Given the description of an element on the screen output the (x, y) to click on. 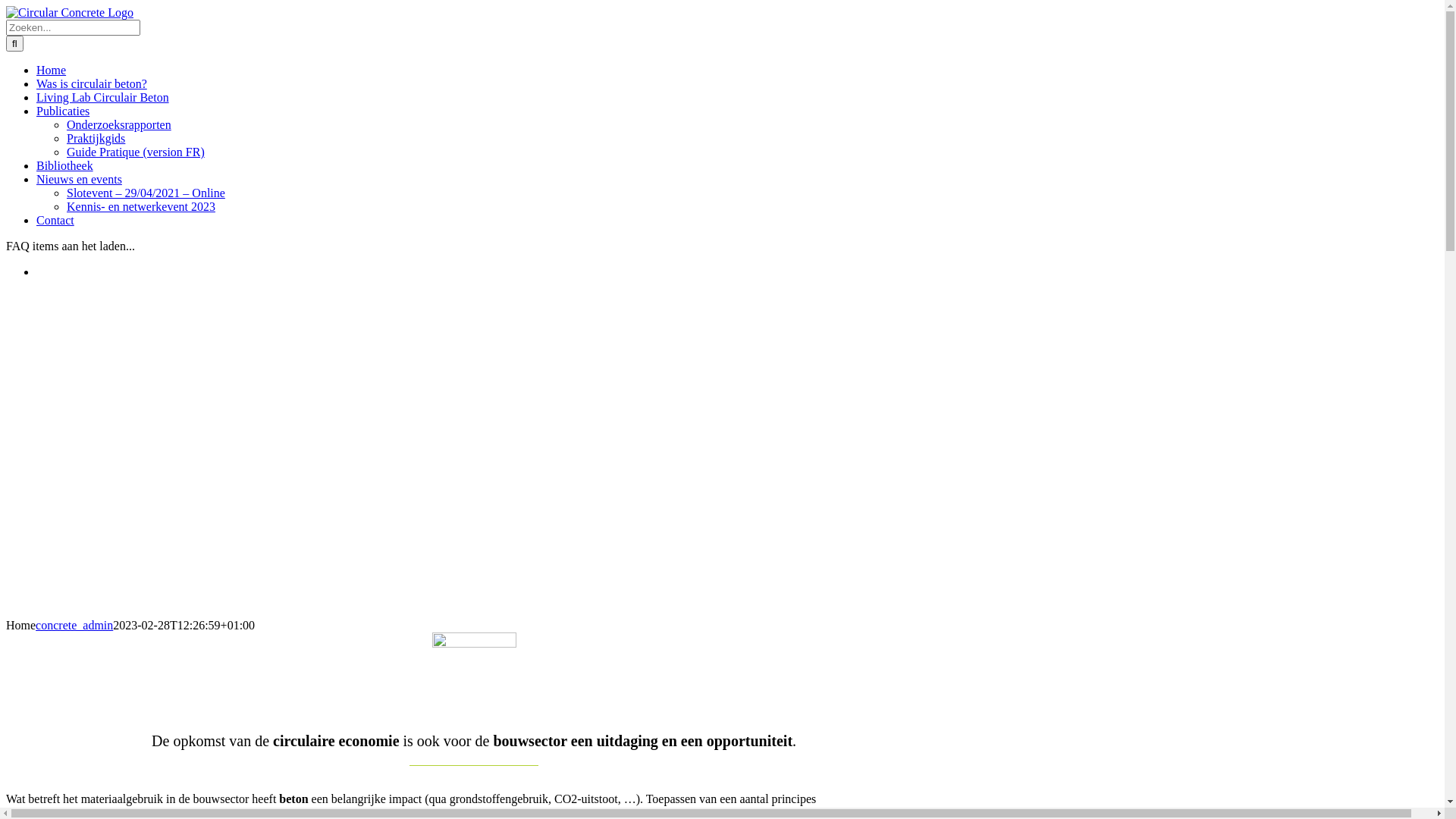
Was is circulair beton? Element type: text (91, 83)
Onderzoeksrapporten Element type: text (118, 124)
Living Lab Circulair Beton Element type: text (102, 97)
Bibliotheek Element type: text (64, 165)
Contact Element type: text (55, 219)
Publicaties Element type: text (62, 110)
Home Element type: text (50, 69)
Ga naar inhoud Element type: text (5, 5)
Guide Pratique (version FR) Element type: text (135, 151)
concrete_admin Element type: text (73, 624)
Kennis- en netwerkevent 2023 Element type: text (140, 206)
Nieuws en events Element type: text (79, 178)
Praktijkgids Element type: text (95, 137)
